Given the description of an element on the screen output the (x, y) to click on. 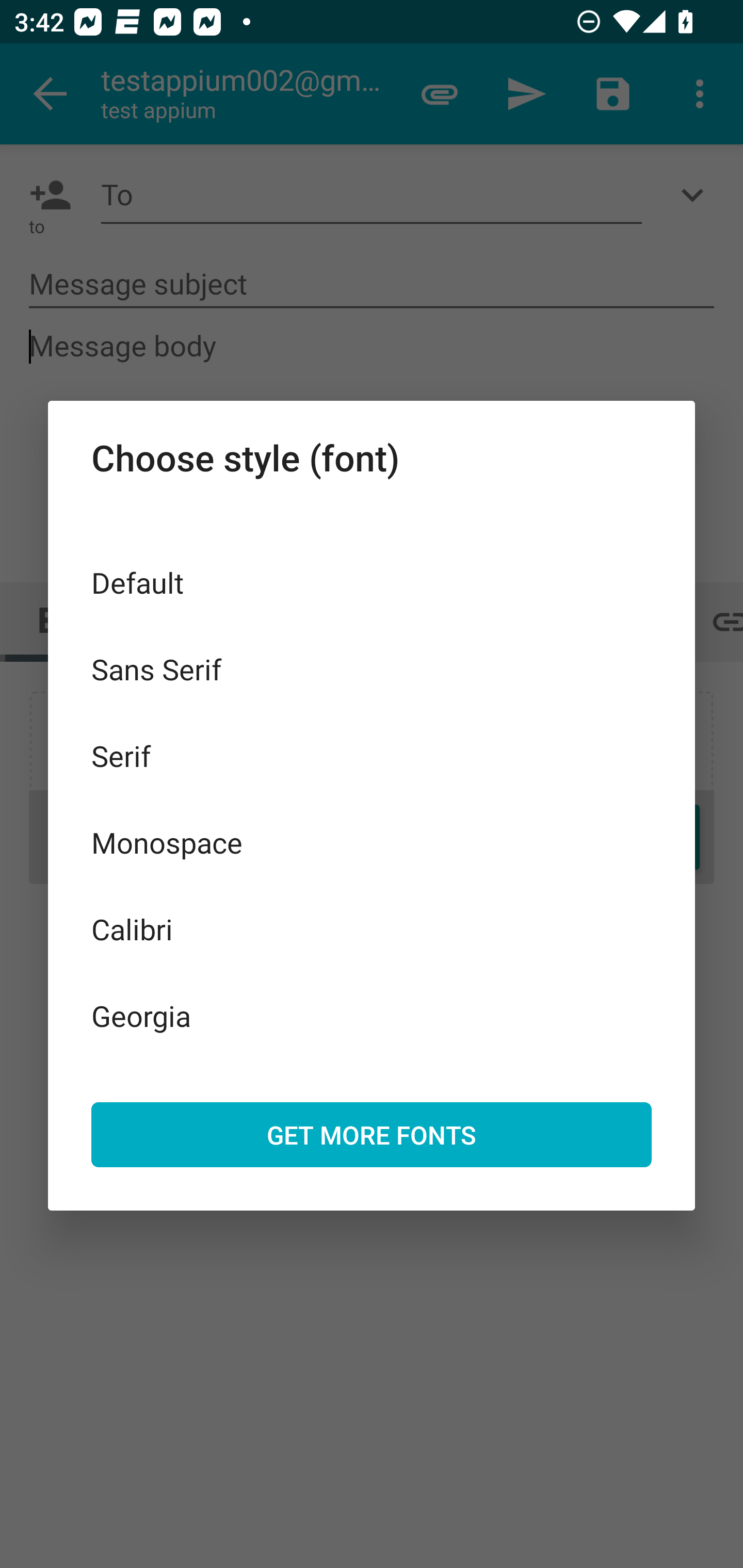
Default (371, 582)
Sans Serif (371, 668)
Serif (371, 755)
Monospace (371, 842)
Calibri (371, 928)
Georgia (371, 1015)
GET MORE FONTS (371, 1134)
